Given the description of an element on the screen output the (x, y) to click on. 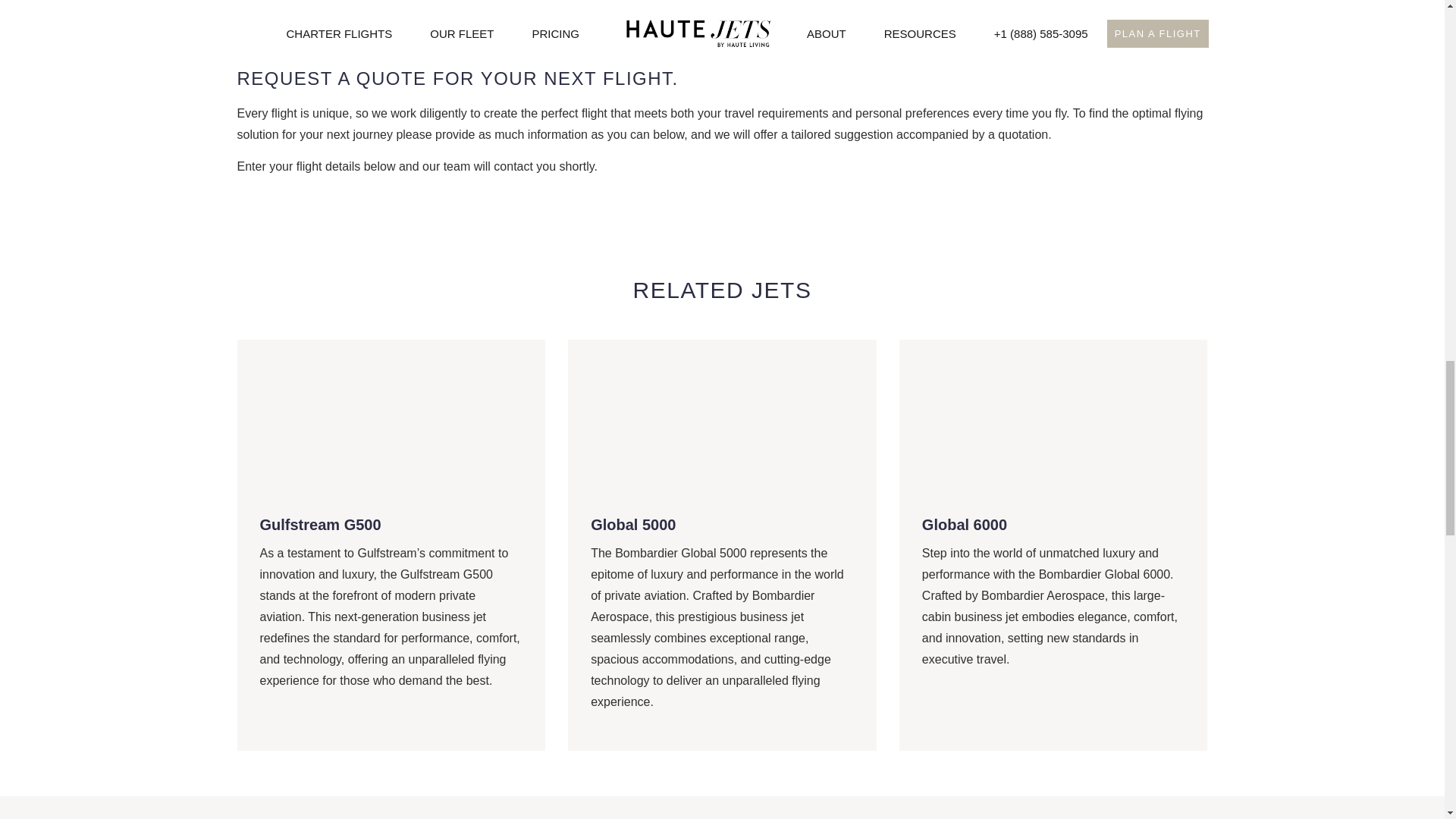
Gulfstream G500 (319, 524)
Global 6000 (964, 524)
Global 5000 (633, 524)
